Given the description of an element on the screen output the (x, y) to click on. 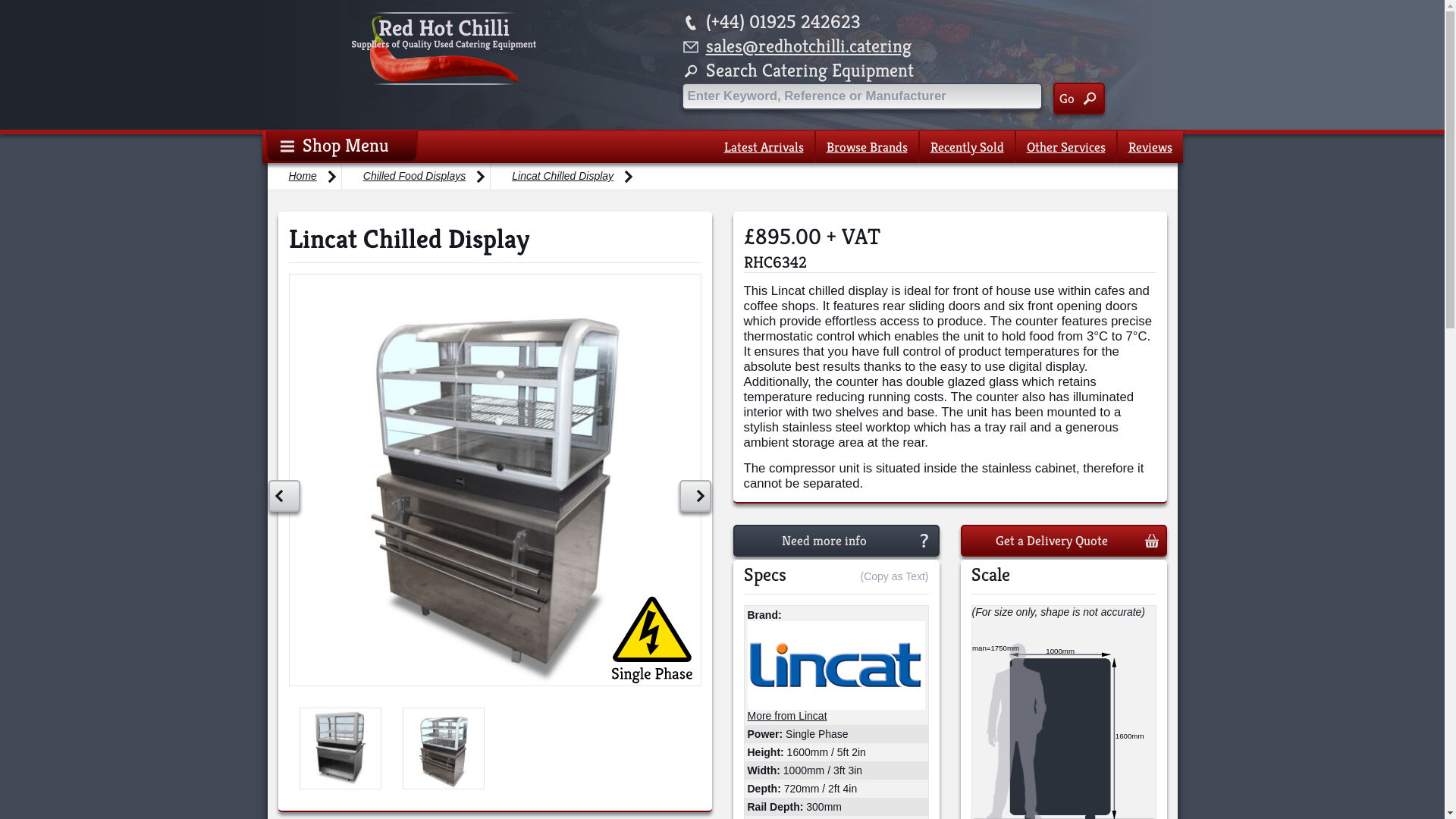
Chilled Food Displays Element type: text (415, 176)
sales@redhotchilli.catering Element type: text (807, 45)
More from Lincat Element type: text (787, 715)
Recently Sold Element type: text (966, 147)
Home Element type: text (303, 176)
Get a Delivery Quote Element type: text (1063, 540)
Other Services Element type: text (1065, 147)
Latest Arrivals Element type: text (763, 147)
Go Element type: text (1078, 98)
Reviews Element type: text (1150, 147)
Need more info Element type: text (835, 540)
Browse Brands Element type: text (866, 147)
Lincat Chilled Display Element type: text (563, 176)
